Given the description of an element on the screen output the (x, y) to click on. 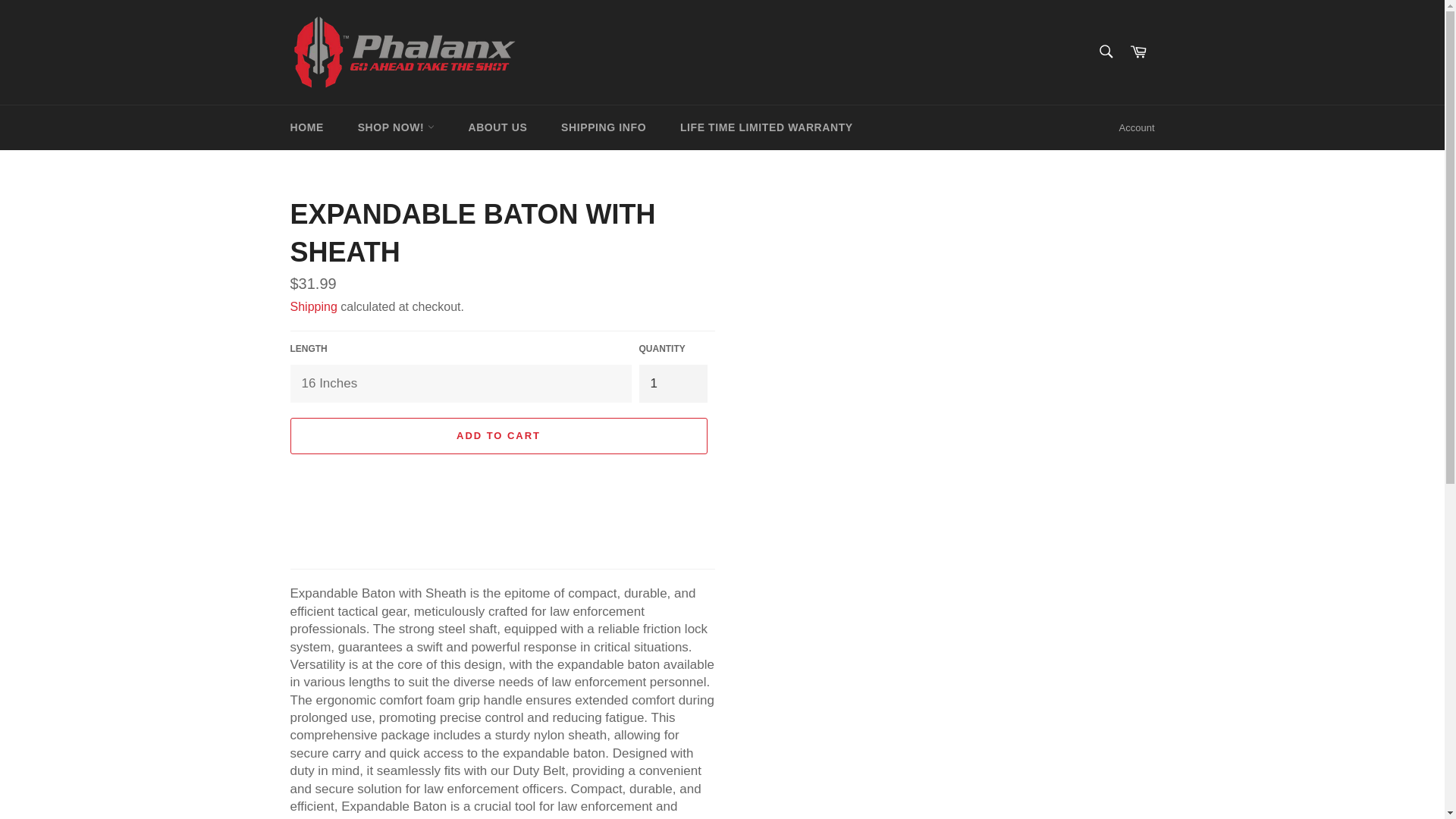
1 (672, 383)
